Given the description of an element on the screen output the (x, y) to click on. 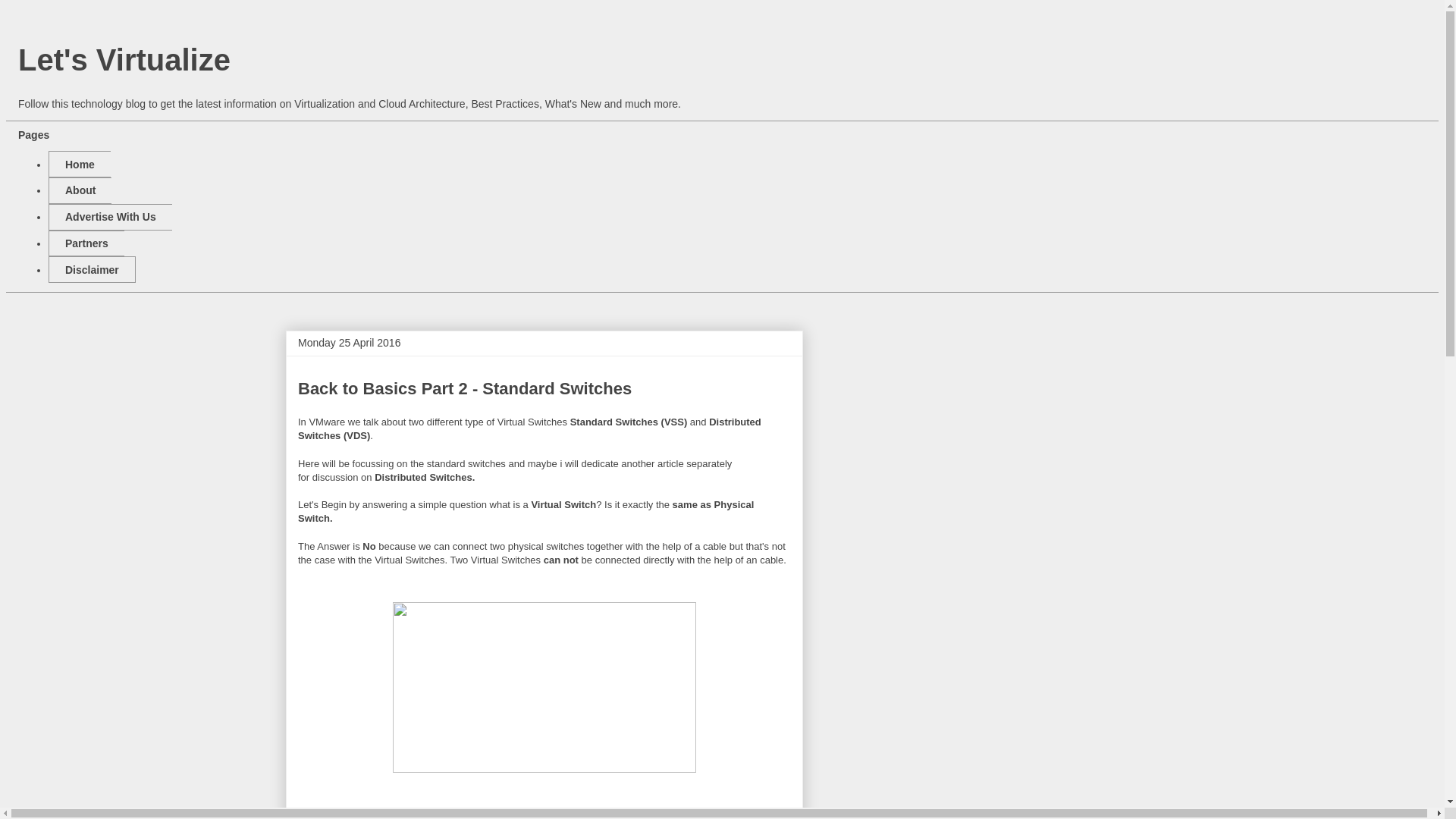
Disclaimer (91, 269)
About (80, 190)
Partners (85, 243)
Home (79, 163)
Advertise With Us (109, 216)
Let's Virtualize (123, 59)
